Given the description of an element on the screen output the (x, y) to click on. 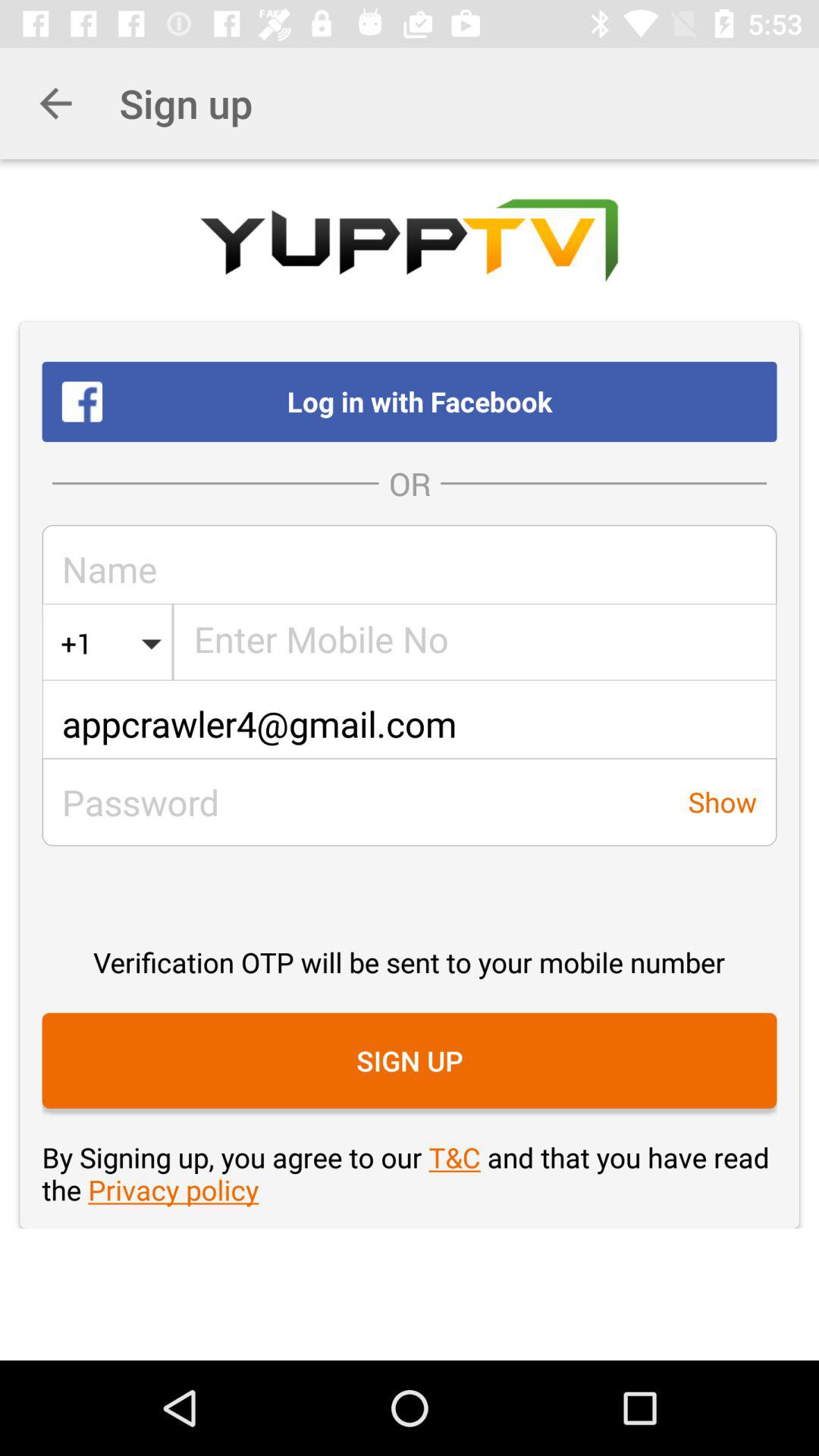
launch item below the +1 icon (409, 723)
